Given the description of an element on the screen output the (x, y) to click on. 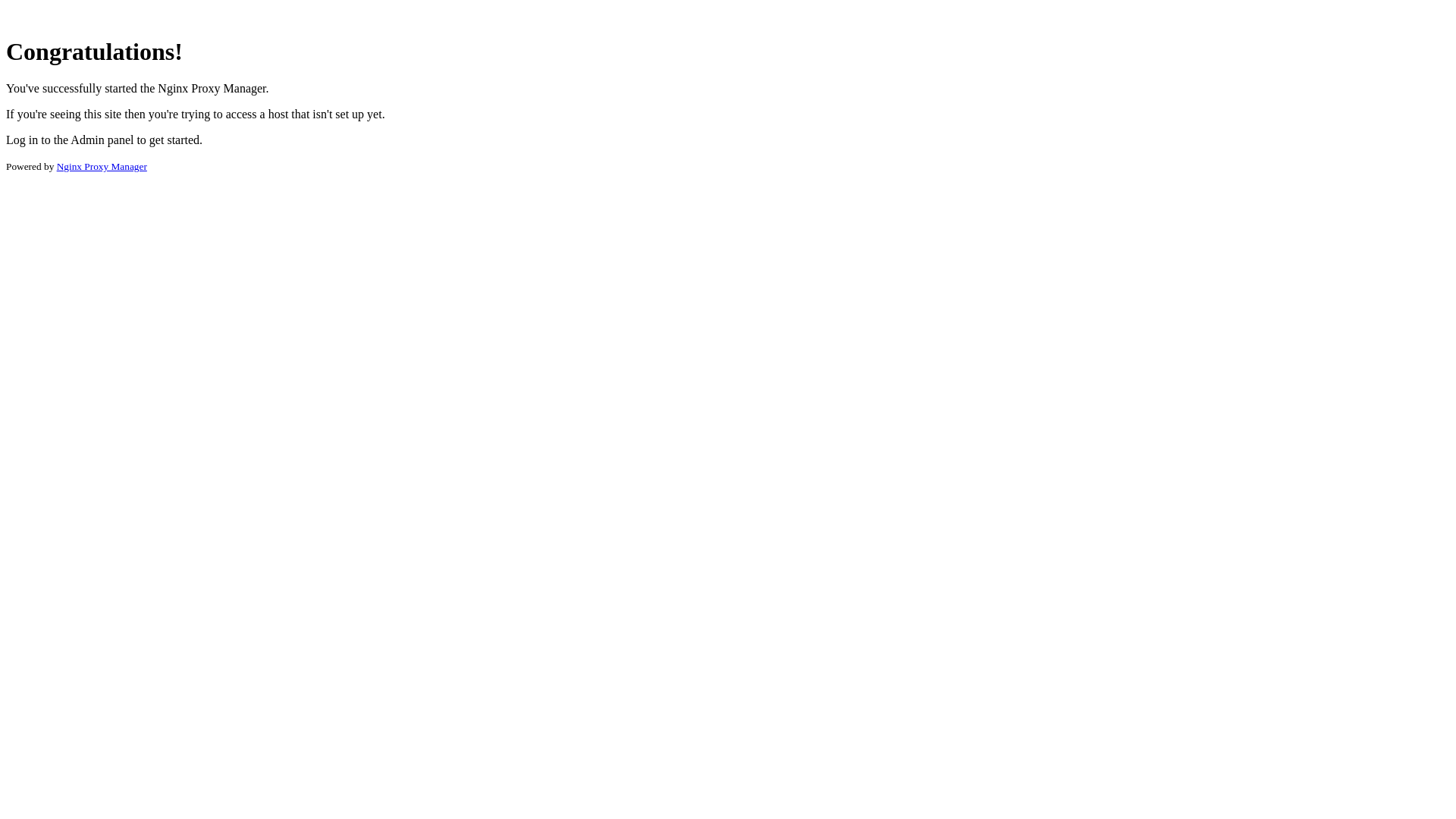
Nginx Proxy Manager Element type: text (101, 166)
